Given the description of an element on the screen output the (x, y) to click on. 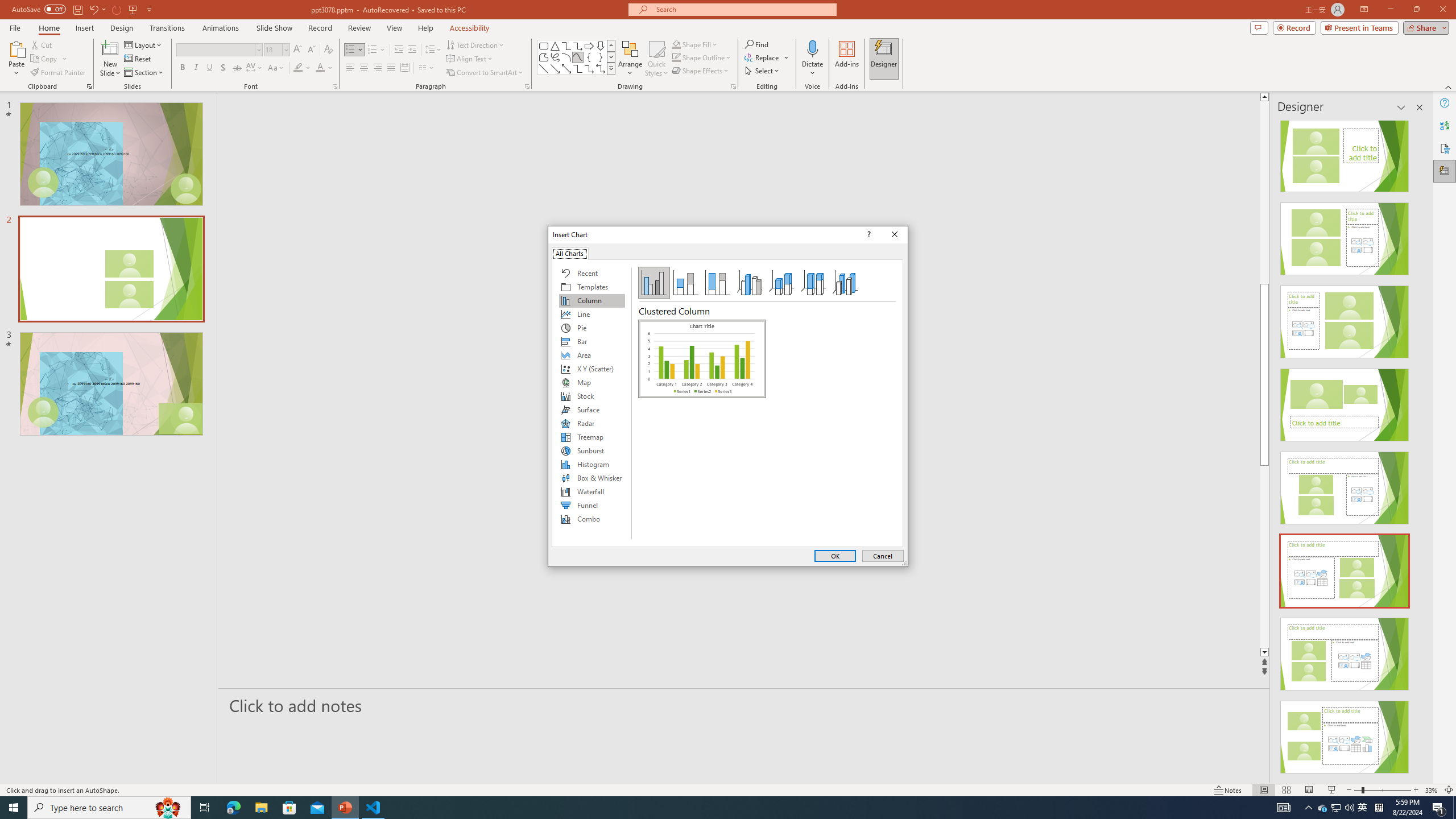
Class: NetUIScrollBar (1418, 447)
Bar (591, 341)
Radar (591, 423)
